Given the description of an element on the screen output the (x, y) to click on. 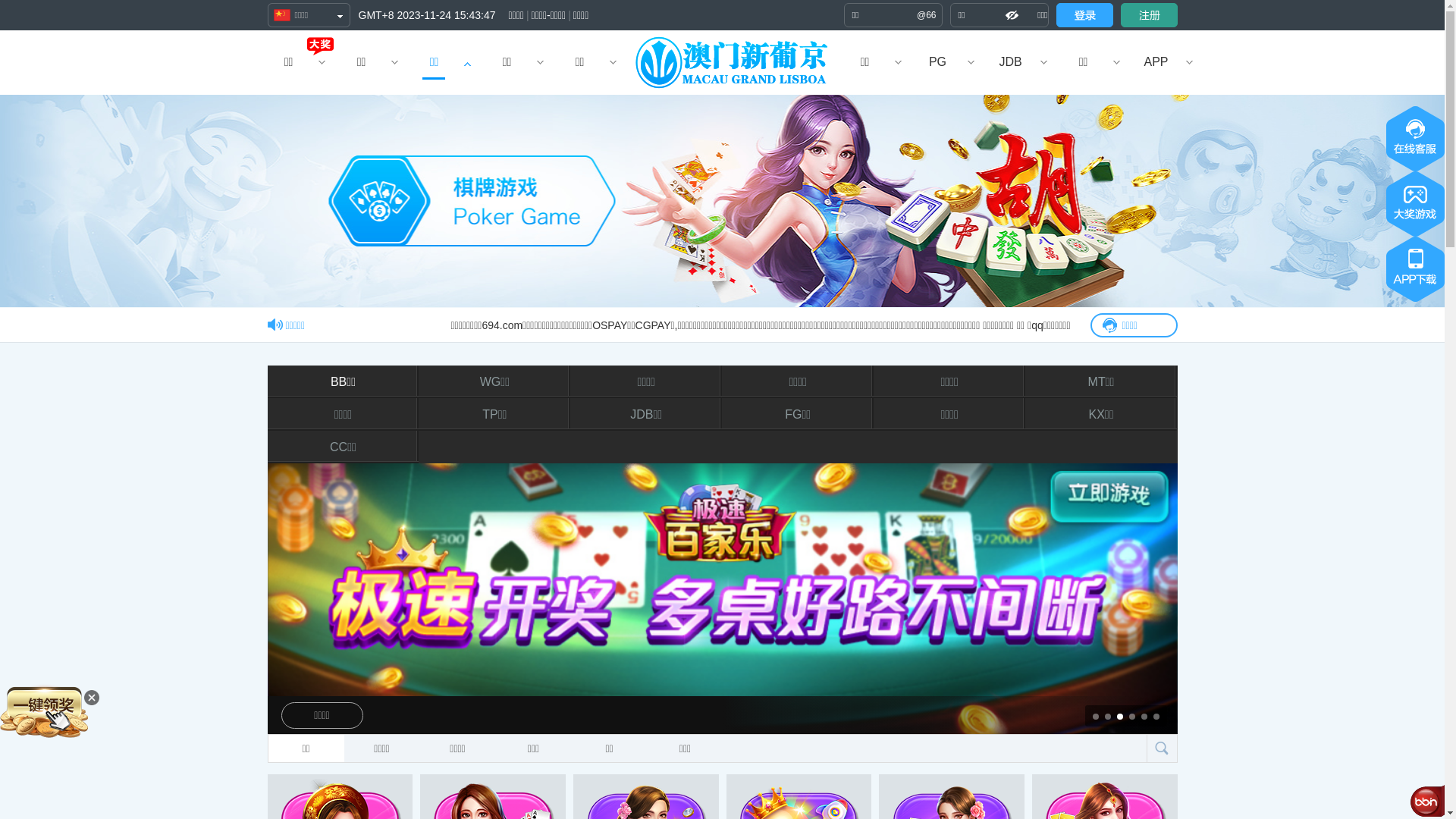
APP Element type: text (1155, 62)
PG Element type: text (936, 62)
JDB Element type: text (1009, 62)
